Given the description of an element on the screen output the (x, y) to click on. 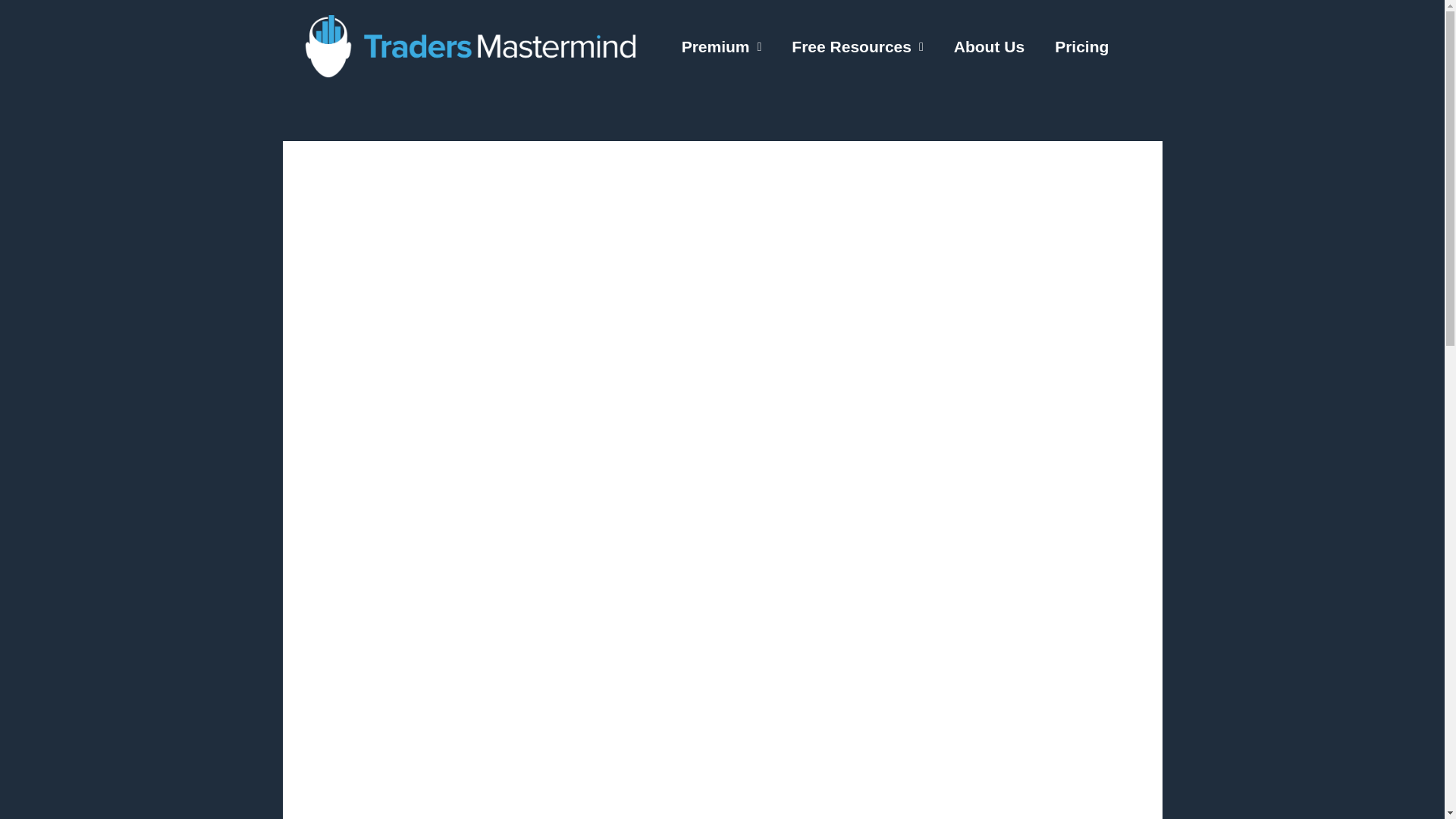
About Us (989, 46)
Free Resources (856, 46)
Pricing (1081, 46)
Premium (721, 46)
